Given the description of an element on the screen output the (x, y) to click on. 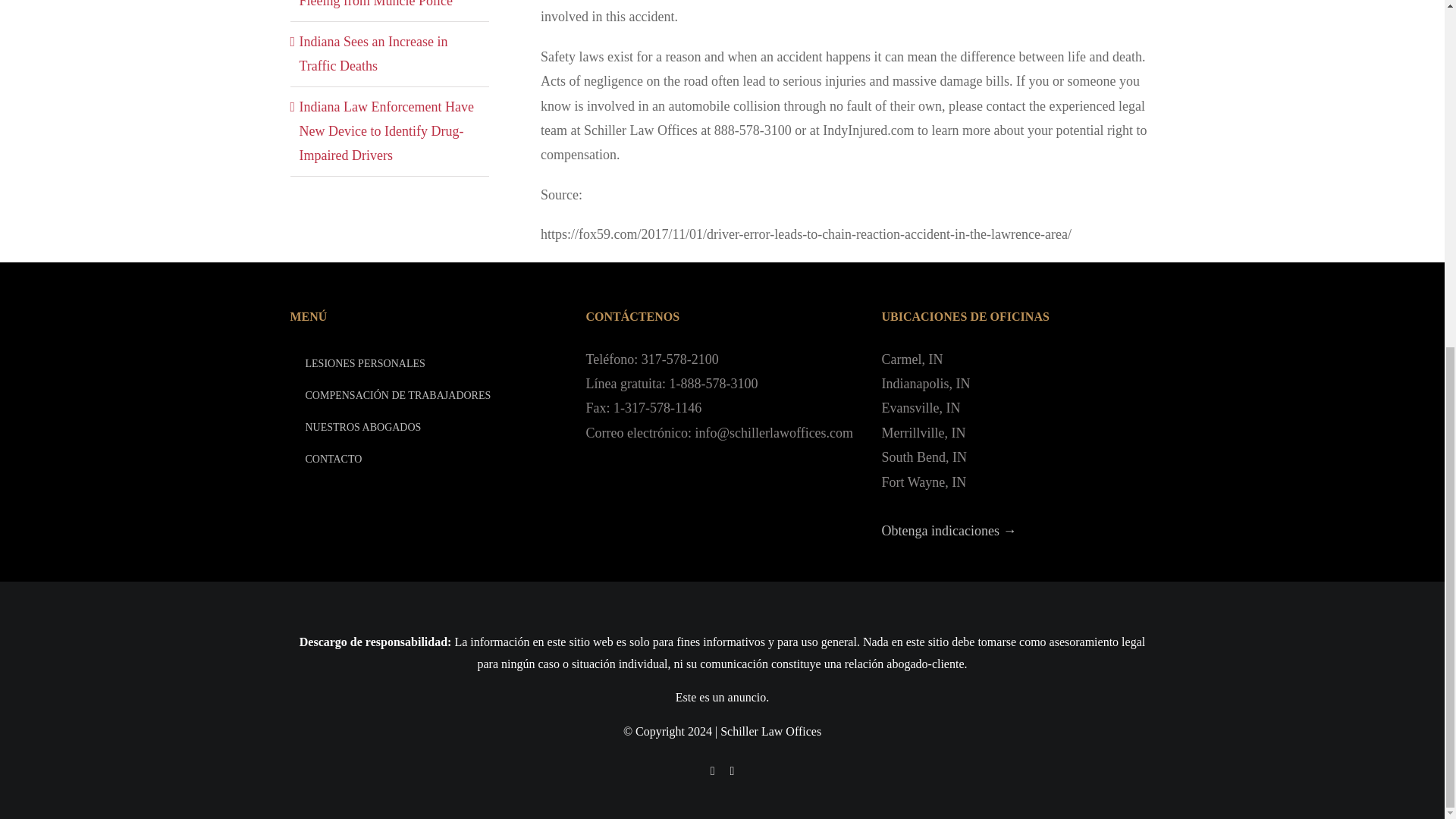
CONTACTO (425, 459)
Man Causes Collision After Fleeing from Muncie Police (374, 4)
NUESTROS ABOGADOS (425, 427)
LESIONES PERSONALES (425, 364)
Indiana Sees an Increase in Traffic Deaths (372, 53)
